Given the description of an element on the screen output the (x, y) to click on. 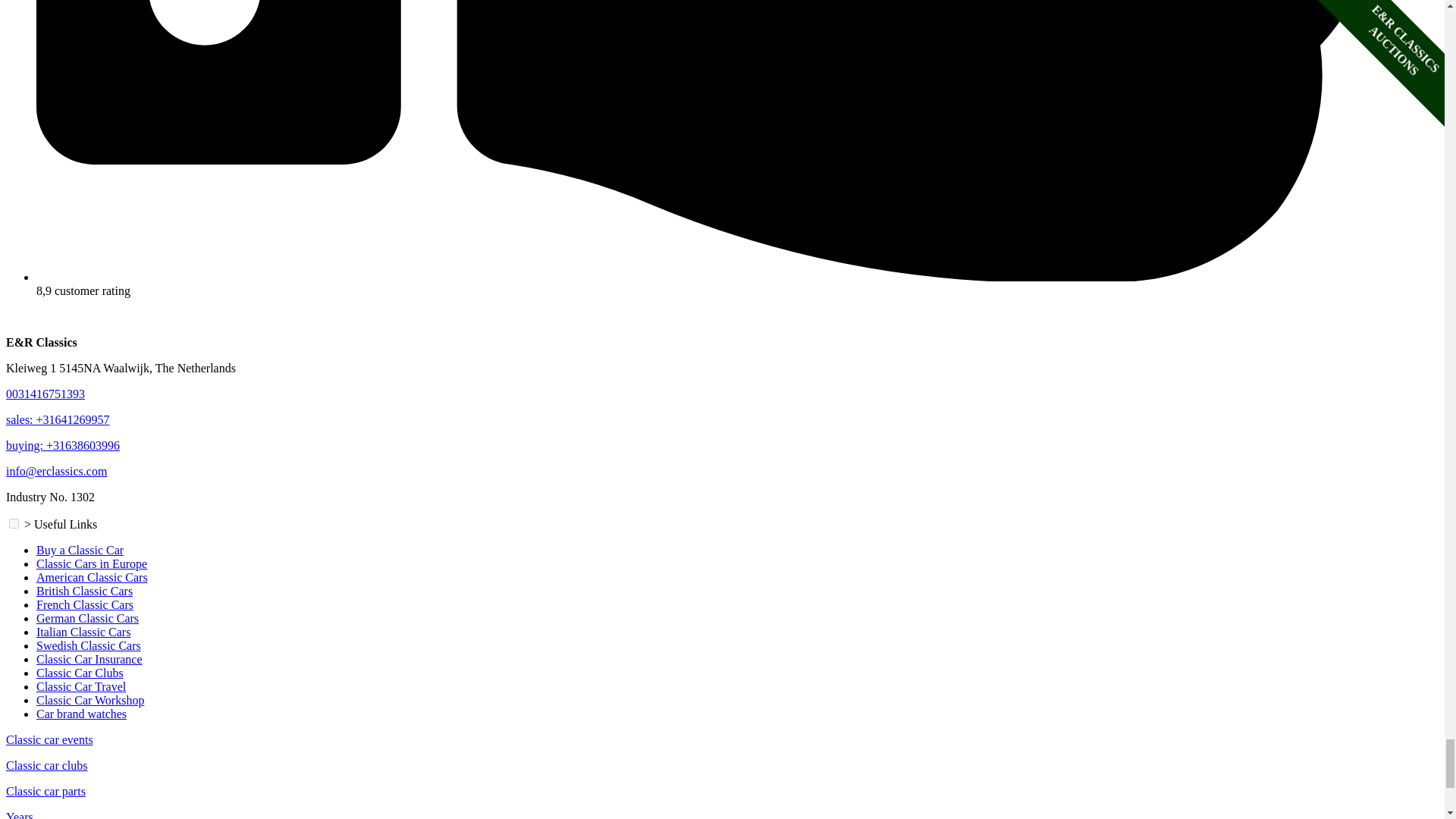
on (13, 523)
